Given the description of an element on the screen output the (x, y) to click on. 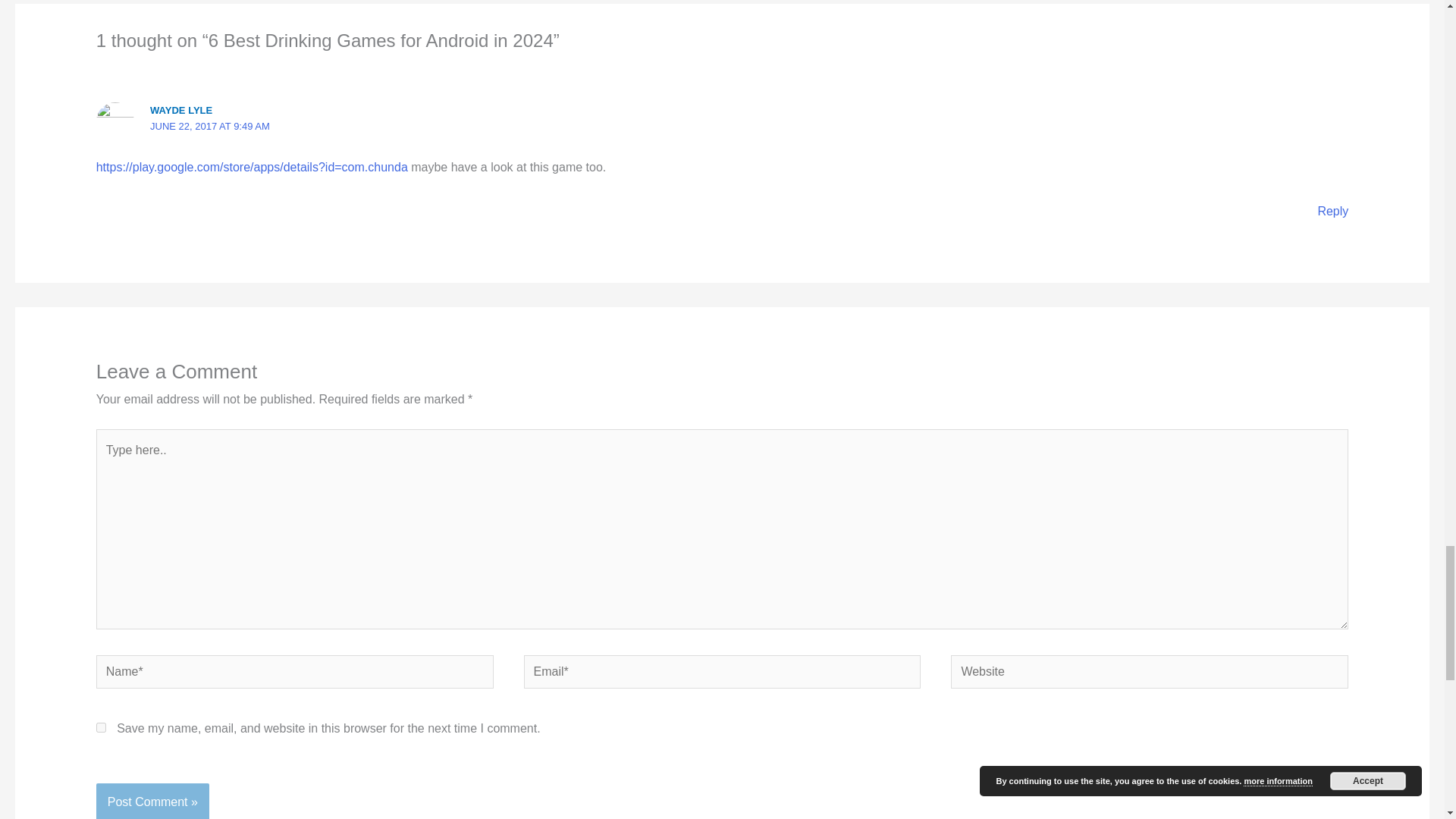
yes (101, 727)
JUNE 22, 2017 AT 9:49 AM (209, 125)
Reply (1332, 210)
